Given the description of an element on the screen output the (x, y) to click on. 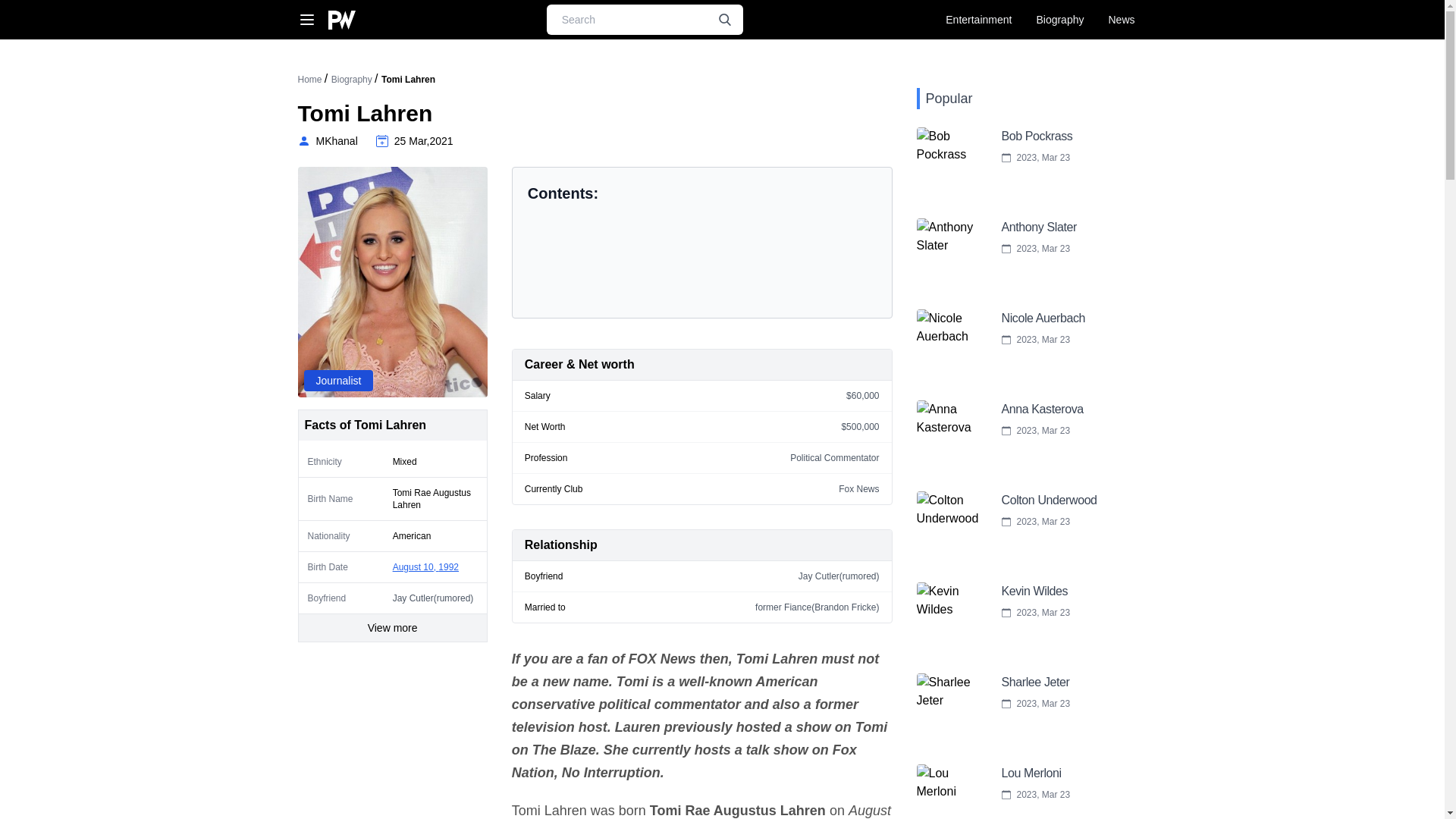
Nicole Auerbach (1005, 345)
MKhanal (326, 140)
entertainment (978, 19)
home (310, 79)
Anna Kasterova (1005, 436)
Home (310, 79)
news (1121, 19)
Journalist (337, 380)
Entertainment (978, 19)
homepage (341, 19)
